Given the description of an element on the screen output the (x, y) to click on. 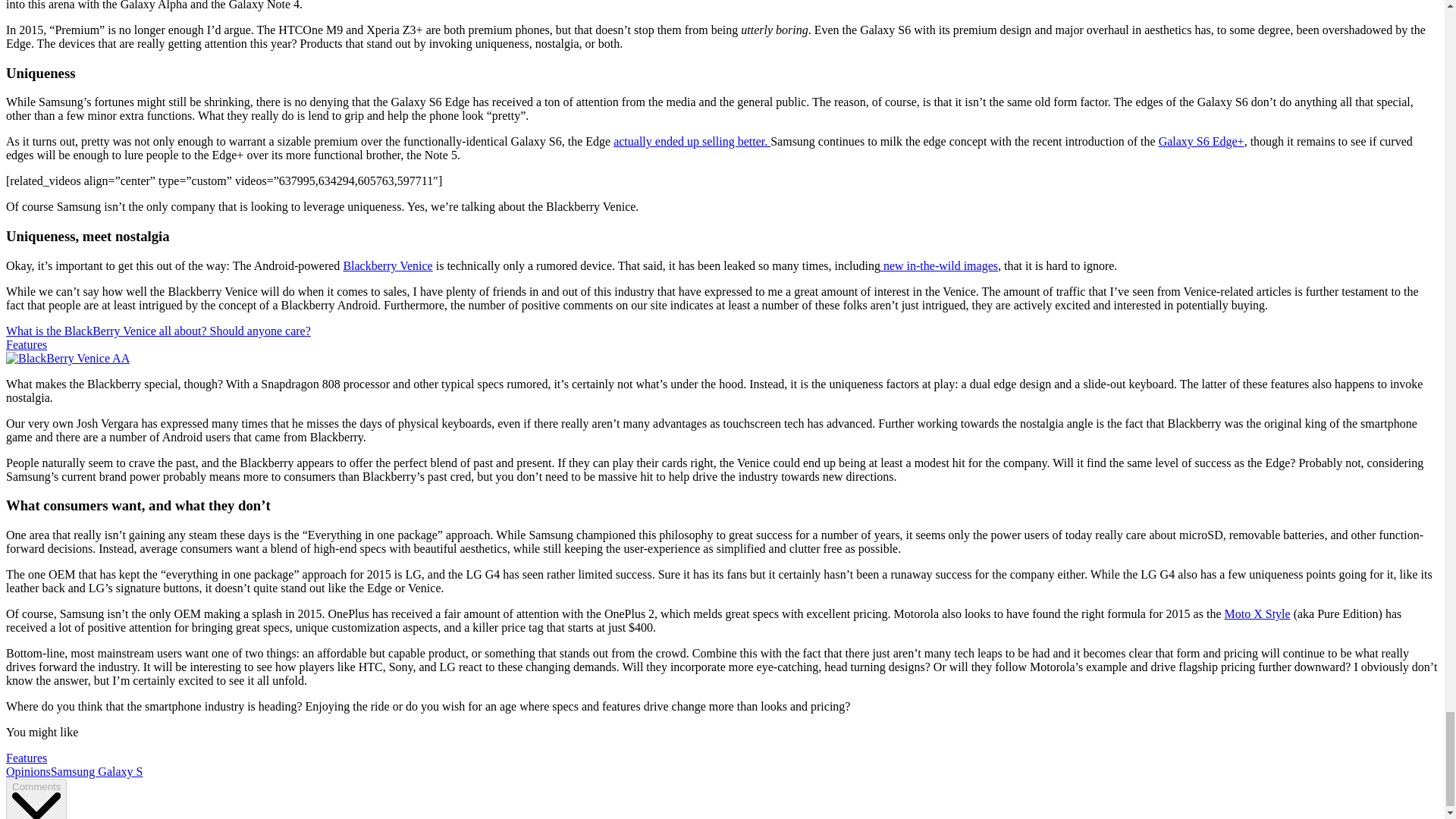
actually ended up selling better. (691, 141)
Blackberry Venice (387, 265)
new in-the-wild images (938, 265)
Samsung Galaxy S (96, 771)
Features (25, 757)
Opinions (27, 771)
Moto X Style (1257, 613)
BlackBerry Venice AA (67, 358)
